Given the description of an element on the screen output the (x, y) to click on. 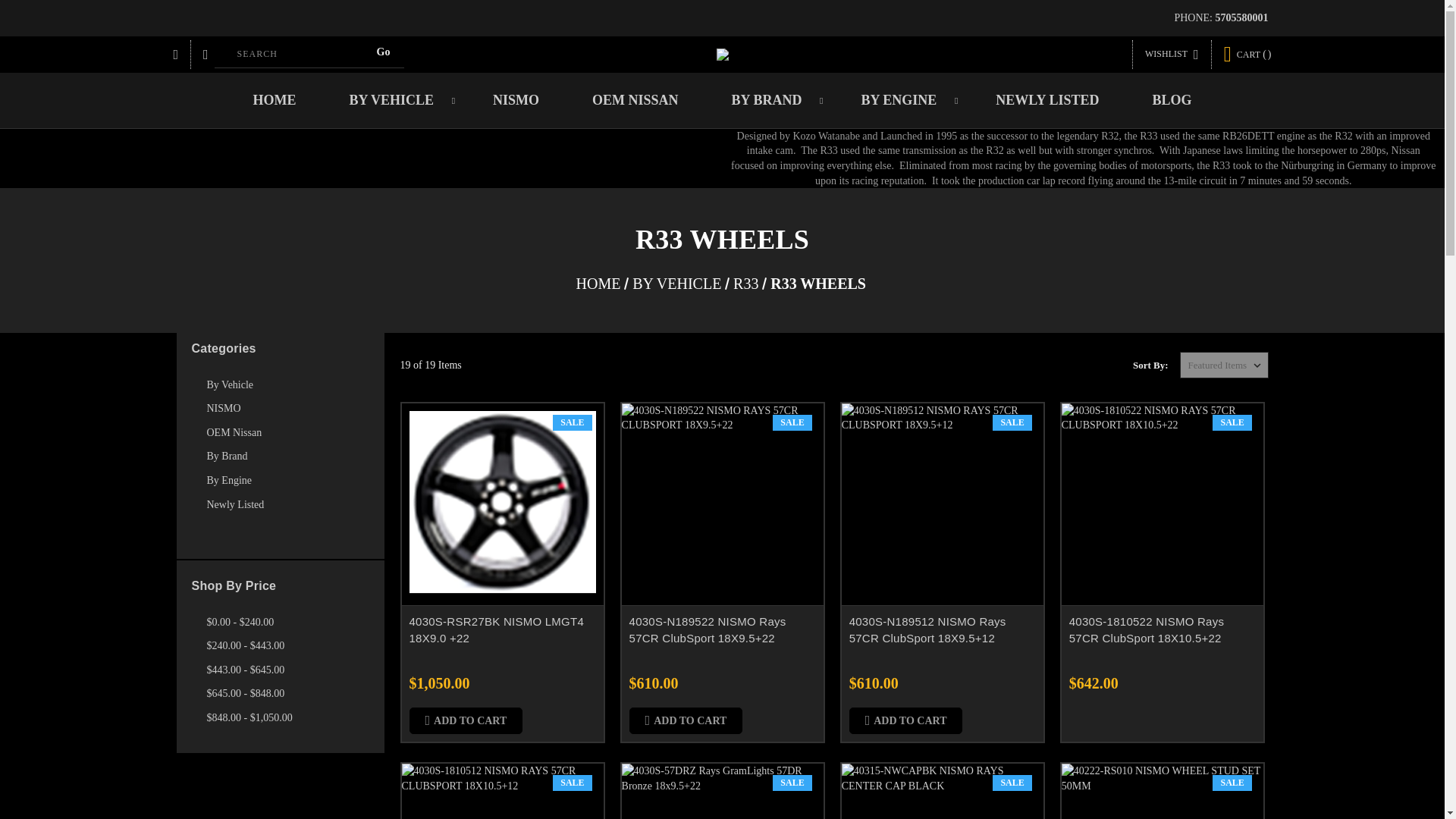
HOME (273, 99)
Tom Hesser Nissan (722, 54)
By Vehicle (286, 385)
BY VEHICLE (393, 99)
WISHLIST (1171, 54)
5705580001 (1241, 17)
CART (1247, 54)
Go (383, 52)
Go (383, 52)
